Given the description of an element on the screen output the (x, y) to click on. 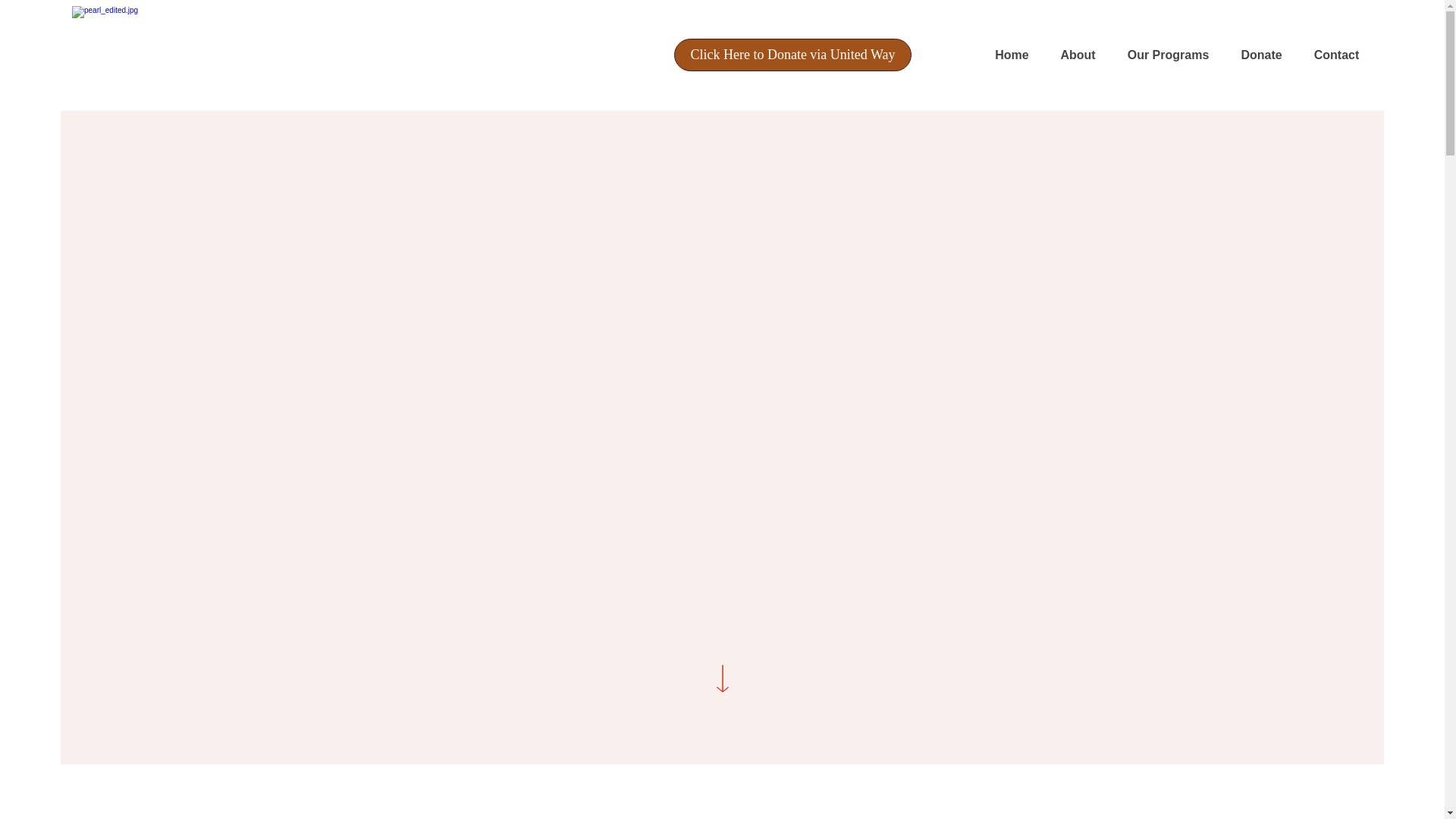
Click Here to Donate via United Way (792, 54)
Home (1011, 54)
About (1076, 54)
Donate (1260, 54)
Contact (1335, 54)
